Given the description of an element on the screen output the (x, y) to click on. 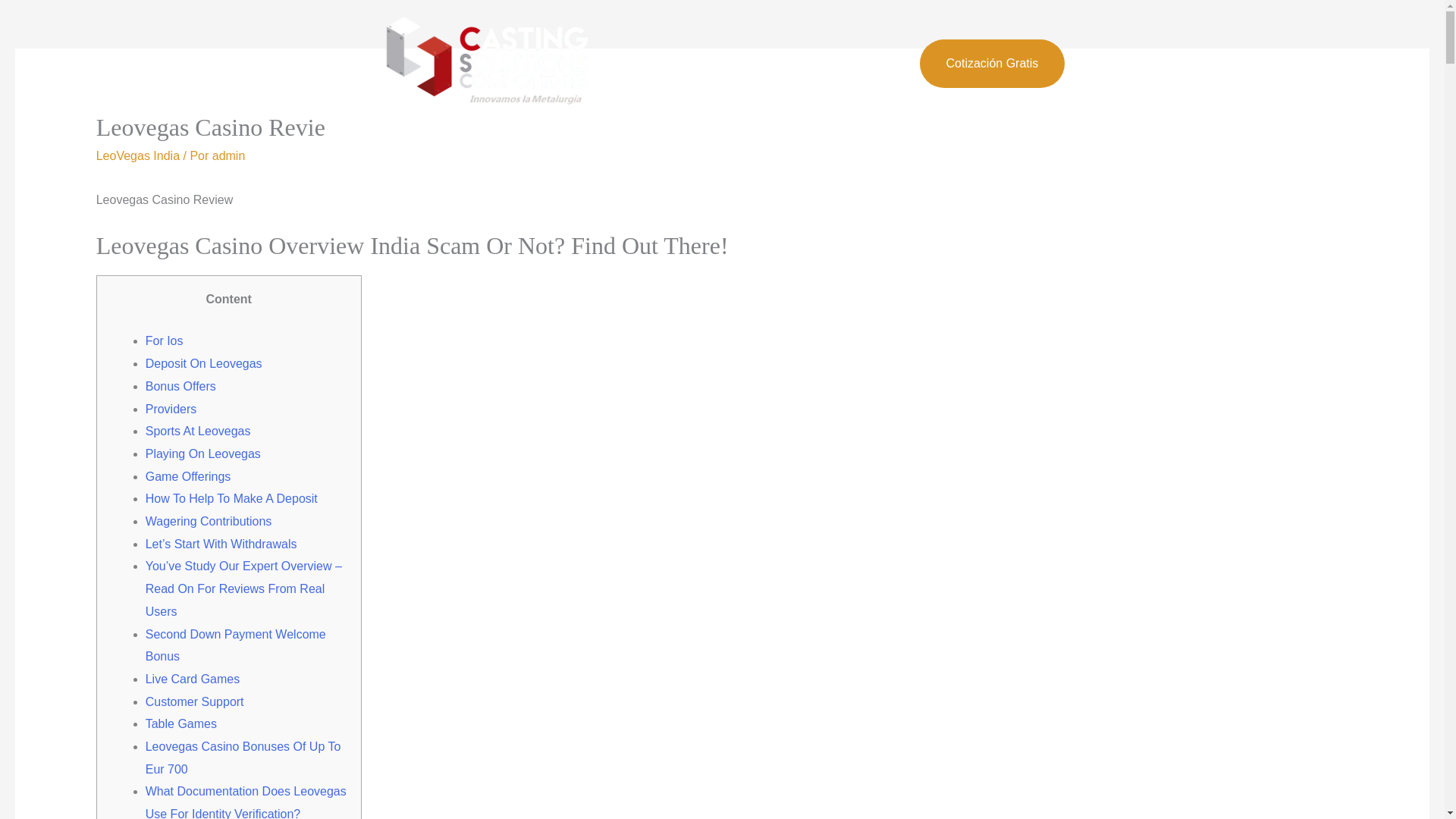
Table Games (180, 723)
Servicios (789, 63)
For Ios (164, 340)
LeoVegas India (137, 155)
Playing On Leovegas (202, 453)
Nosotros (711, 63)
Second Down Payment Welcome Bonus (235, 645)
Contacto (867, 63)
admin (229, 155)
Providers (170, 408)
